Given the description of an element on the screen output the (x, y) to click on. 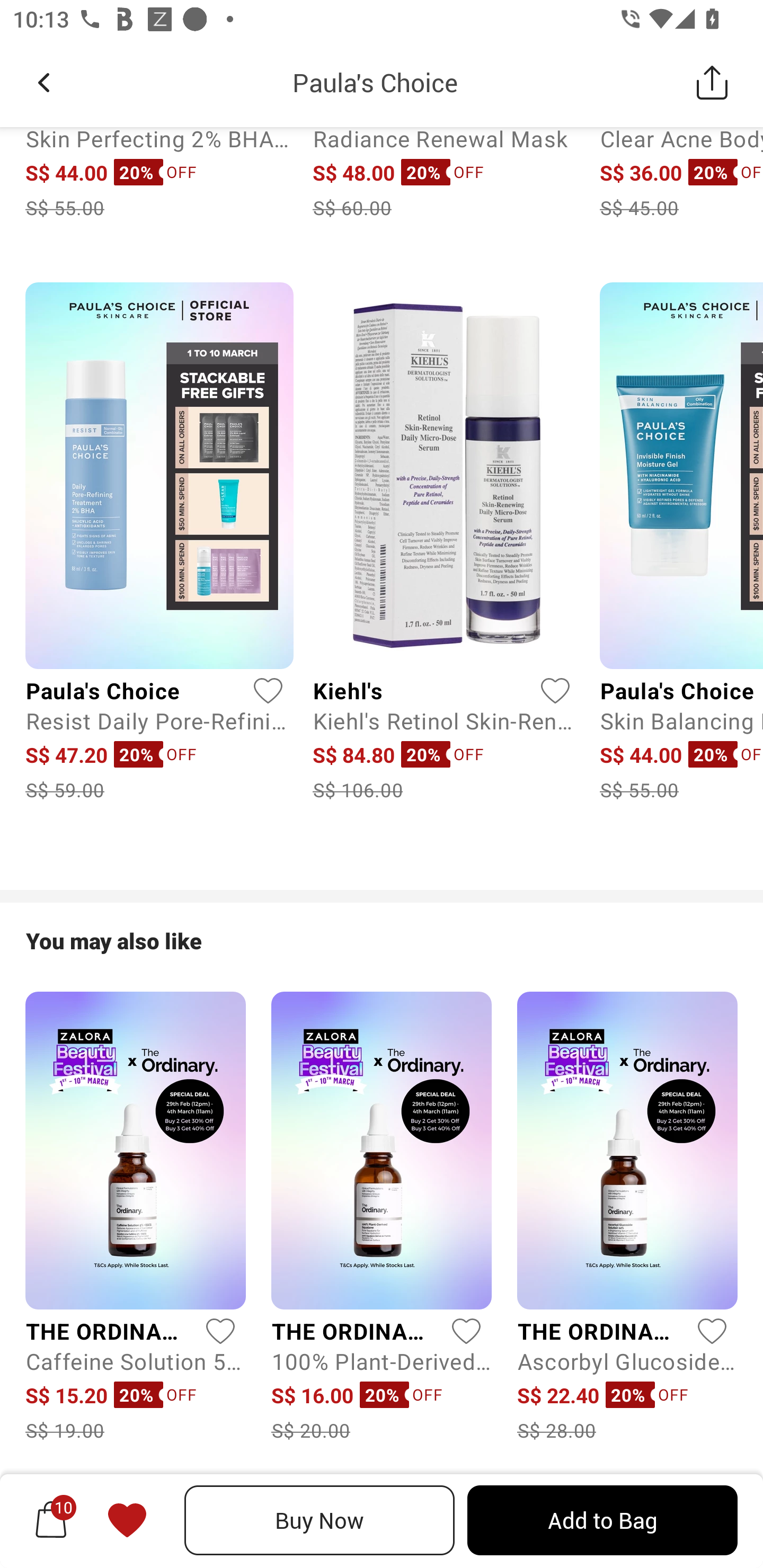
Paula's Choice (375, 82)
Share this Product (711, 82)
Buy Now (319, 1519)
Add to Bag (601, 1519)
10 (50, 1520)
